Given the description of an element on the screen output the (x, y) to click on. 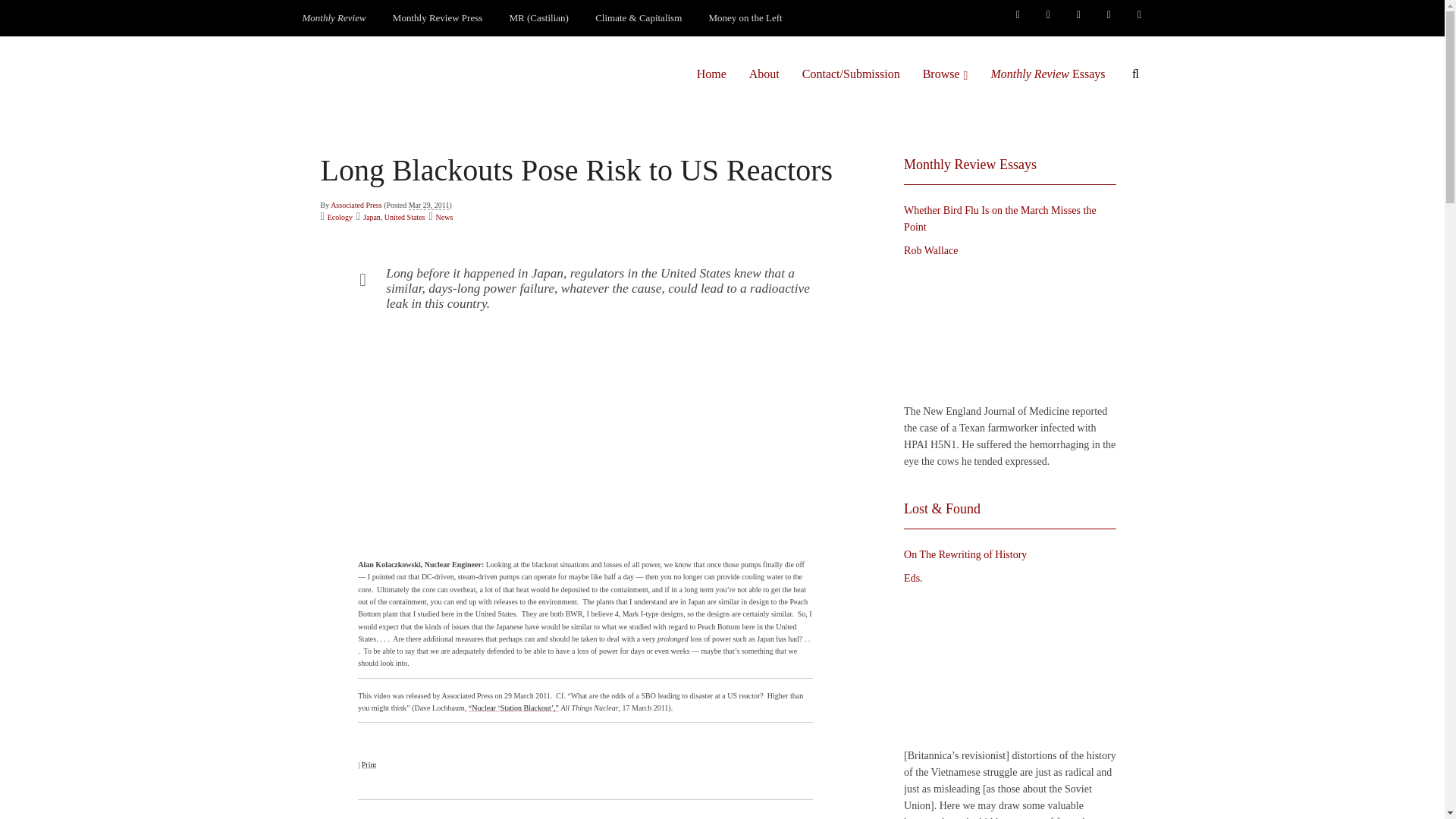
Posts by Eds. (913, 578)
Posts by Rob Wallace (931, 250)
Monthly Review Magazine (333, 18)
On The Rewriting of History (1006, 666)
YouTube video player (585, 436)
Monthly Review (333, 18)
Money on the Left (745, 18)
Monthly Review Press (437, 18)
Browse (945, 74)
Whether Bird Flu Is on the March Misses the Point (1006, 330)
